Given the description of an element on the screen output the (x, y) to click on. 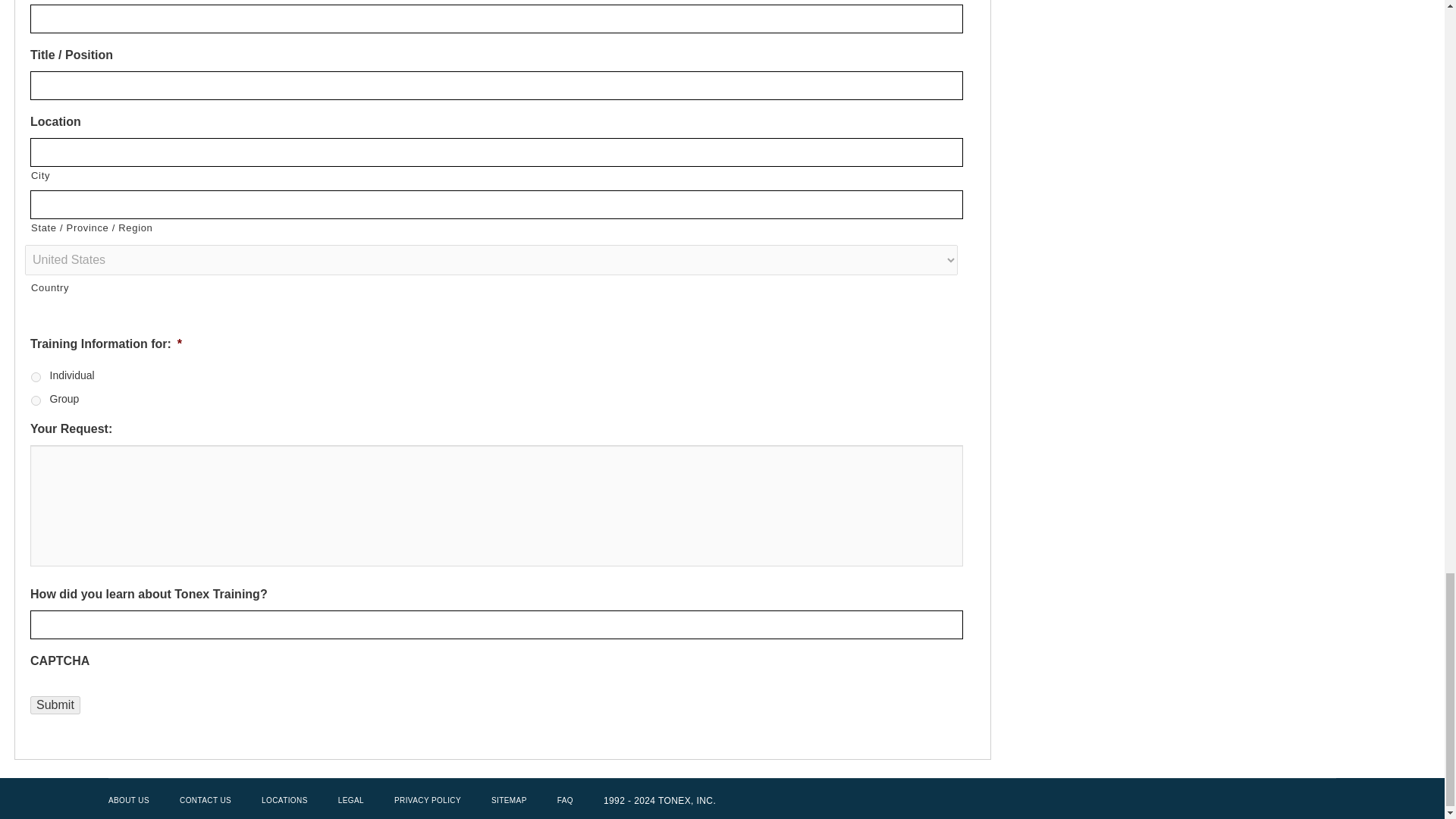
Submit (55, 705)
Group (35, 400)
Individual (35, 377)
RSS Feed (1324, 801)
Facebook (1270, 801)
LinkedIn (1296, 801)
Twitter (1242, 801)
